Given the description of an element on the screen output the (x, y) to click on. 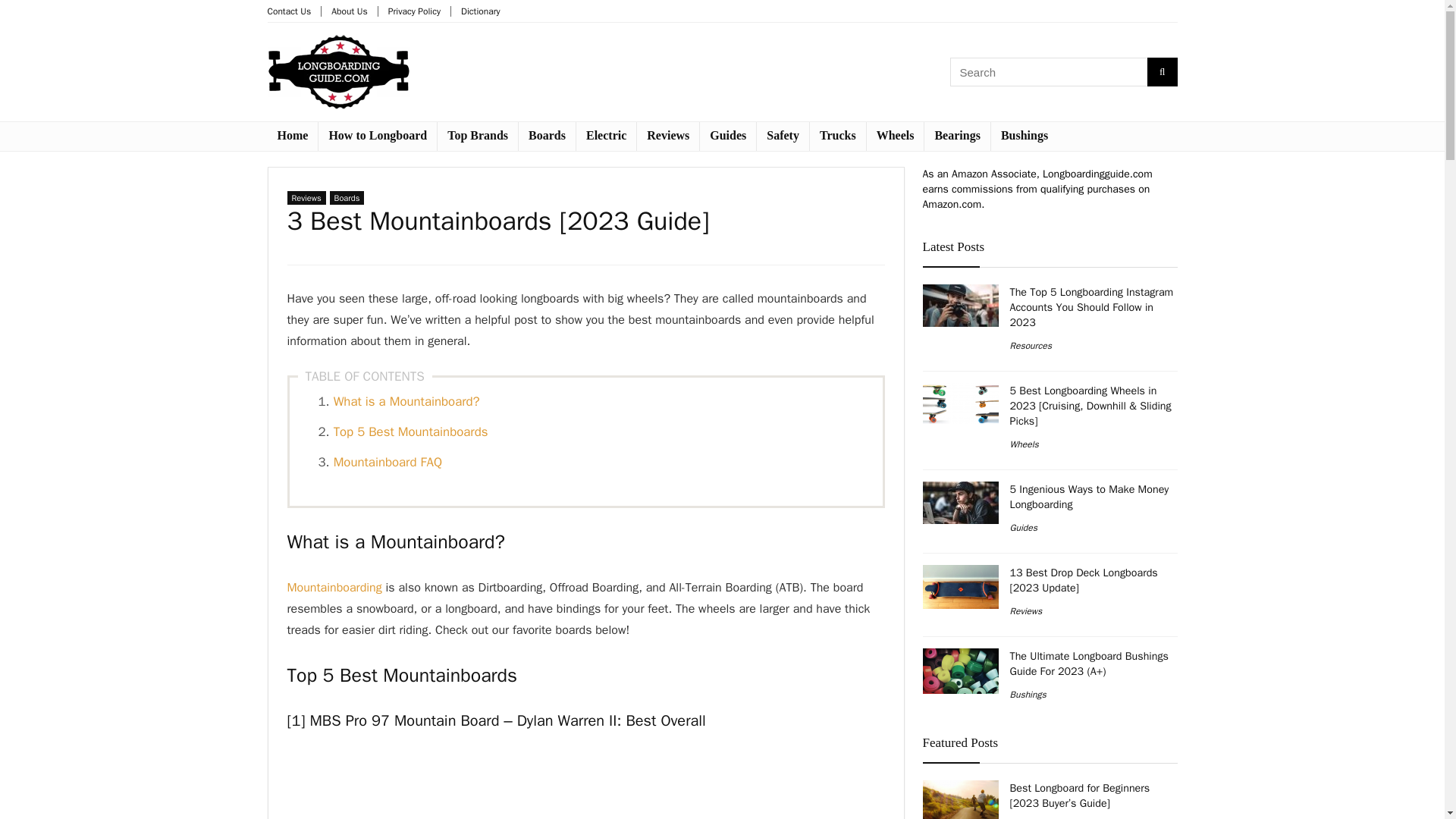
View all posts in Boards (347, 197)
What is a Mountainboard? (406, 401)
Mountainboard FAQ (387, 462)
Reviews (667, 136)
Safety (783, 136)
How to Longboard (377, 136)
Home (291, 136)
Top Brands (478, 136)
Bushings (1024, 136)
View all posts in Reviews (305, 197)
Trucks (837, 136)
About Us (348, 10)
Reviews (305, 197)
Privacy Policy (414, 10)
Top 5 Best Mountainboards (410, 431)
